Given the description of an element on the screen output the (x, y) to click on. 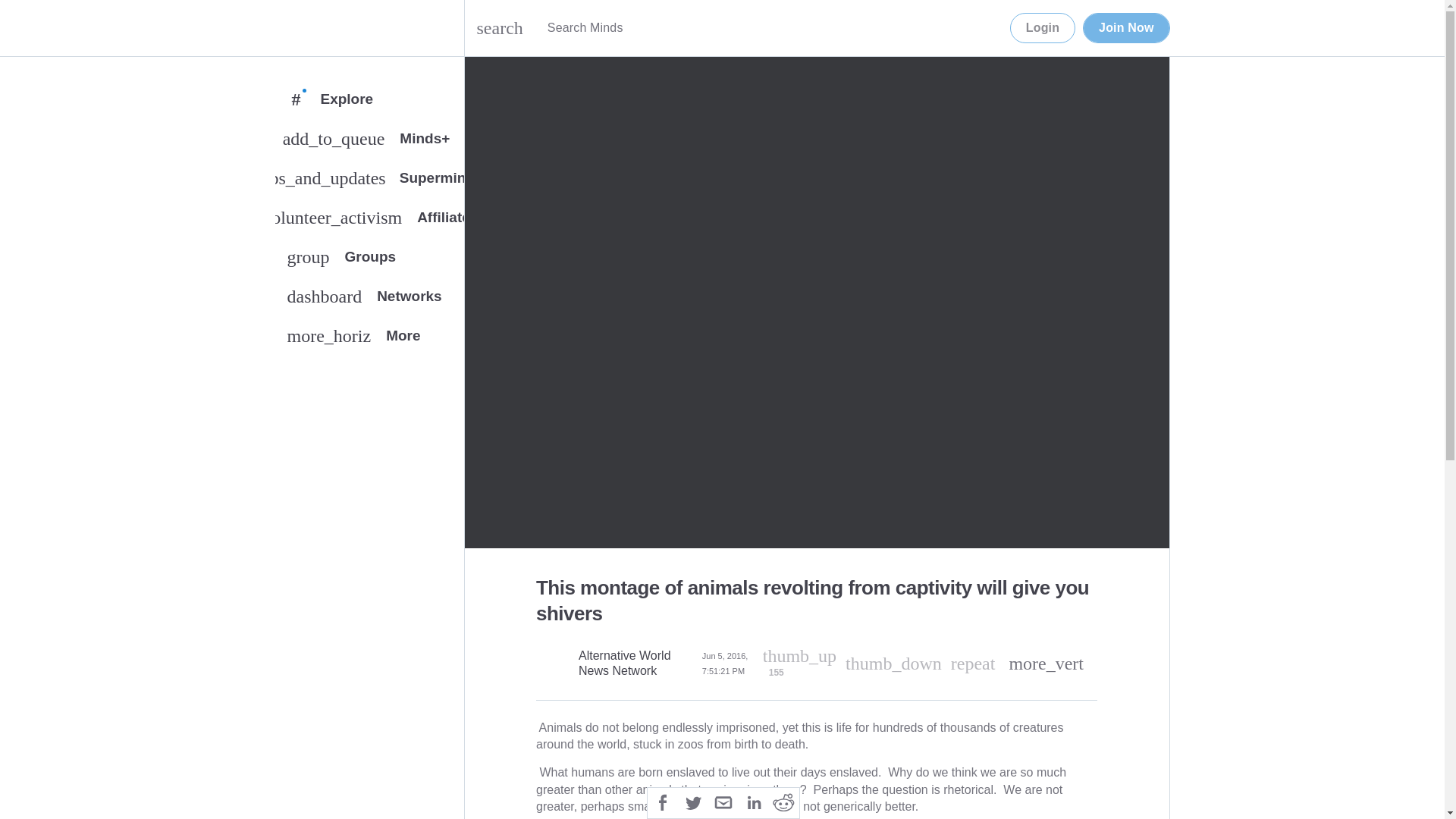
LinkedIn (753, 801)
Join Now (1126, 28)
Join Now (1126, 28)
repeat (972, 663)
Twitter (692, 801)
Login (1042, 28)
Alternative World News Network (636, 663)
Home (290, 28)
Reddit (369, 260)
Facebook (369, 299)
Email (783, 801)
Login (662, 801)
